Given the description of an element on the screen output the (x, y) to click on. 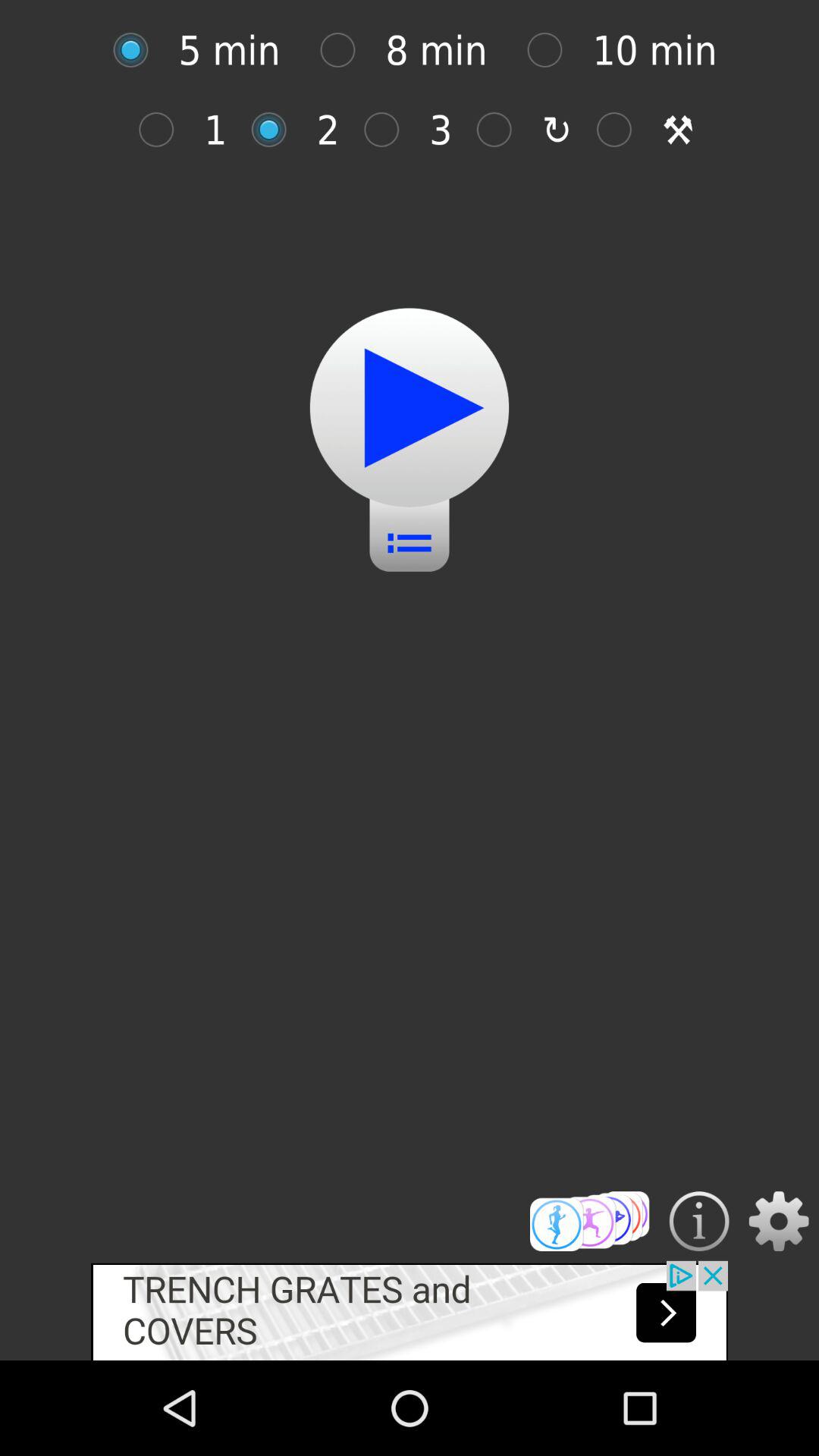
choose 8 minute duration (345, 49)
